Given the description of an element on the screen output the (x, y) to click on. 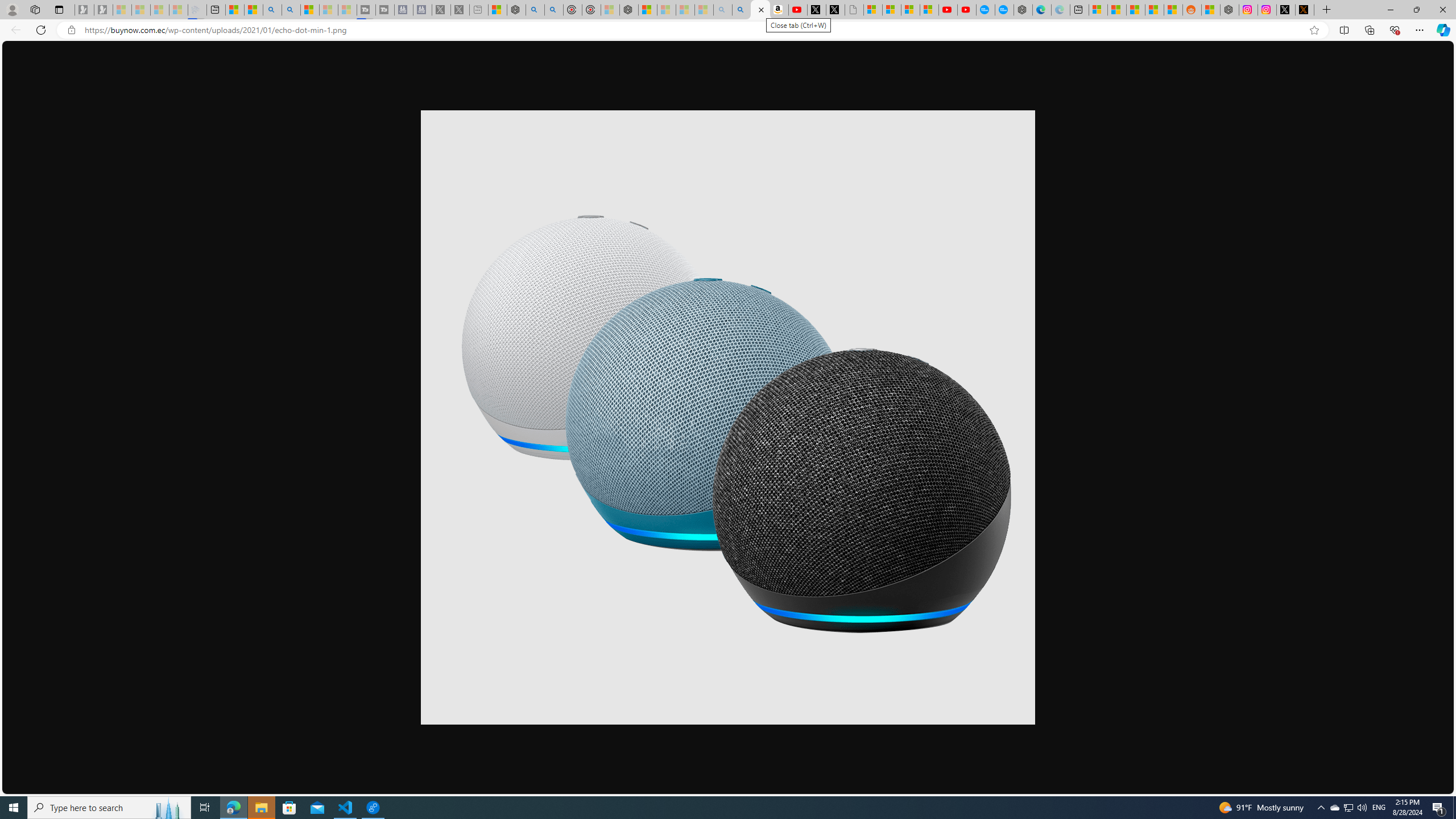
Amazon Echo Dot PNG - Search Images (741, 9)
Microsoft account | Microsoft Account Privacy Settings (1098, 9)
YouTube Kids - An App Created for Kids to Explore Content (966, 9)
Day 1: Arriving in Yemen (surreal to be here) - YouTube (797, 9)
Nordace - Summer Adventures 2024 (1229, 9)
X - Sleeping (459, 9)
